Given the description of an element on the screen output the (x, y) to click on. 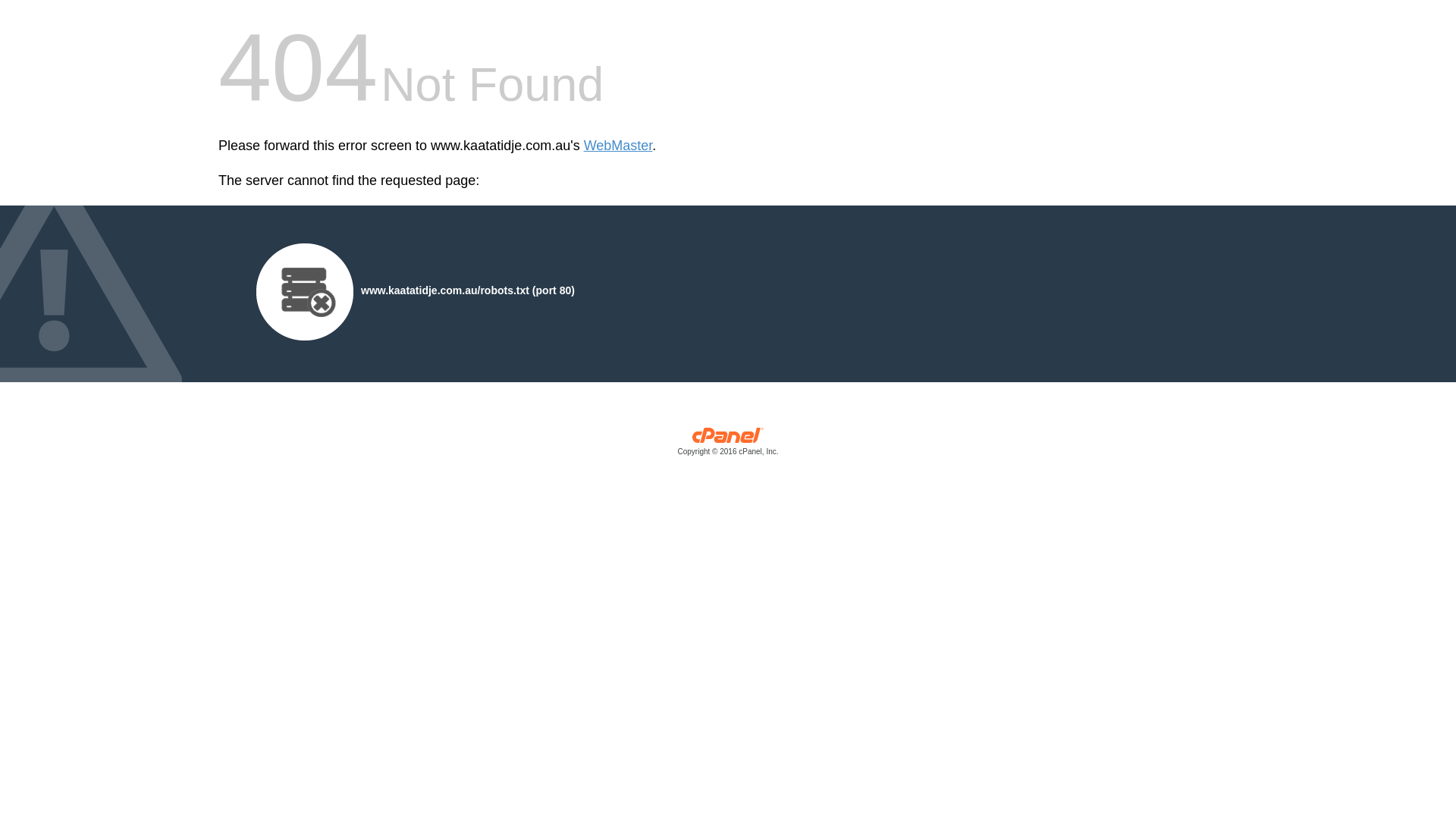
WebMaster Element type: text (617, 145)
